Given the description of an element on the screen output the (x, y) to click on. 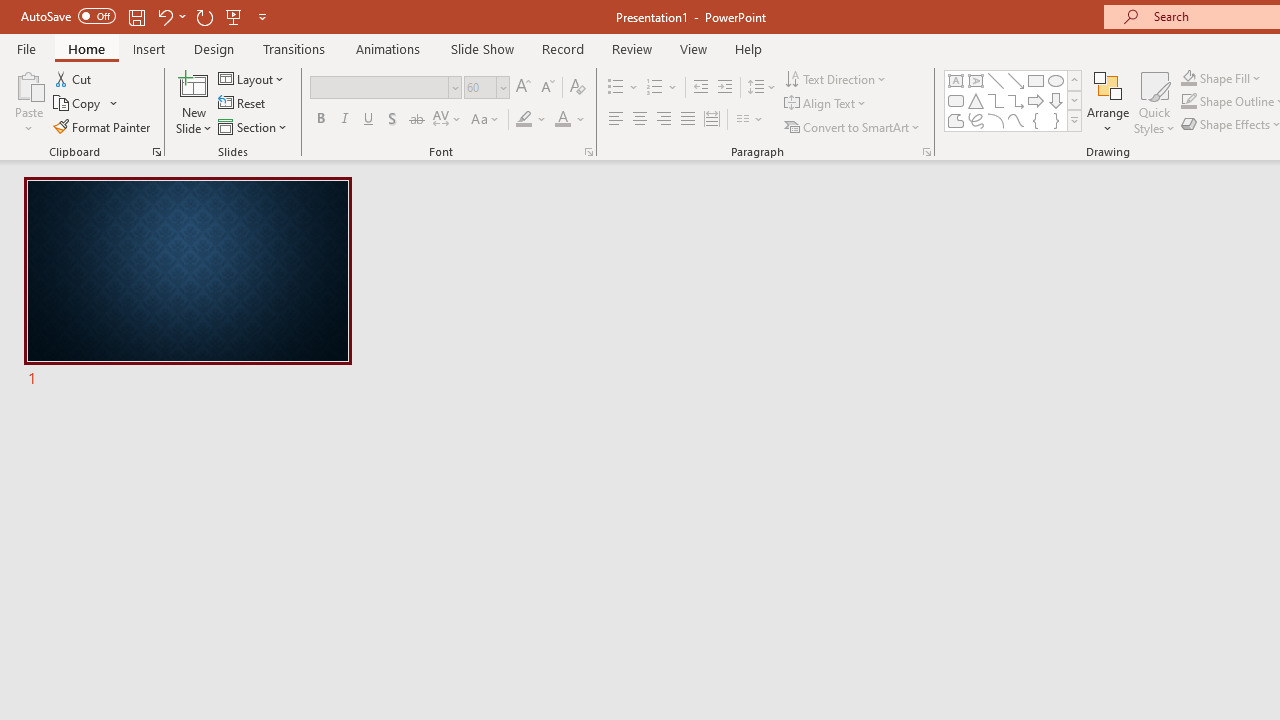
AutomationID: ShapesInsertGallery (1014, 100)
Layout (252, 78)
Increase Font Size (522, 87)
Clear Formatting (577, 87)
Bold (320, 119)
Text Highlight Color Yellow (524, 119)
Character Spacing (447, 119)
